Given the description of an element on the screen output the (x, y) to click on. 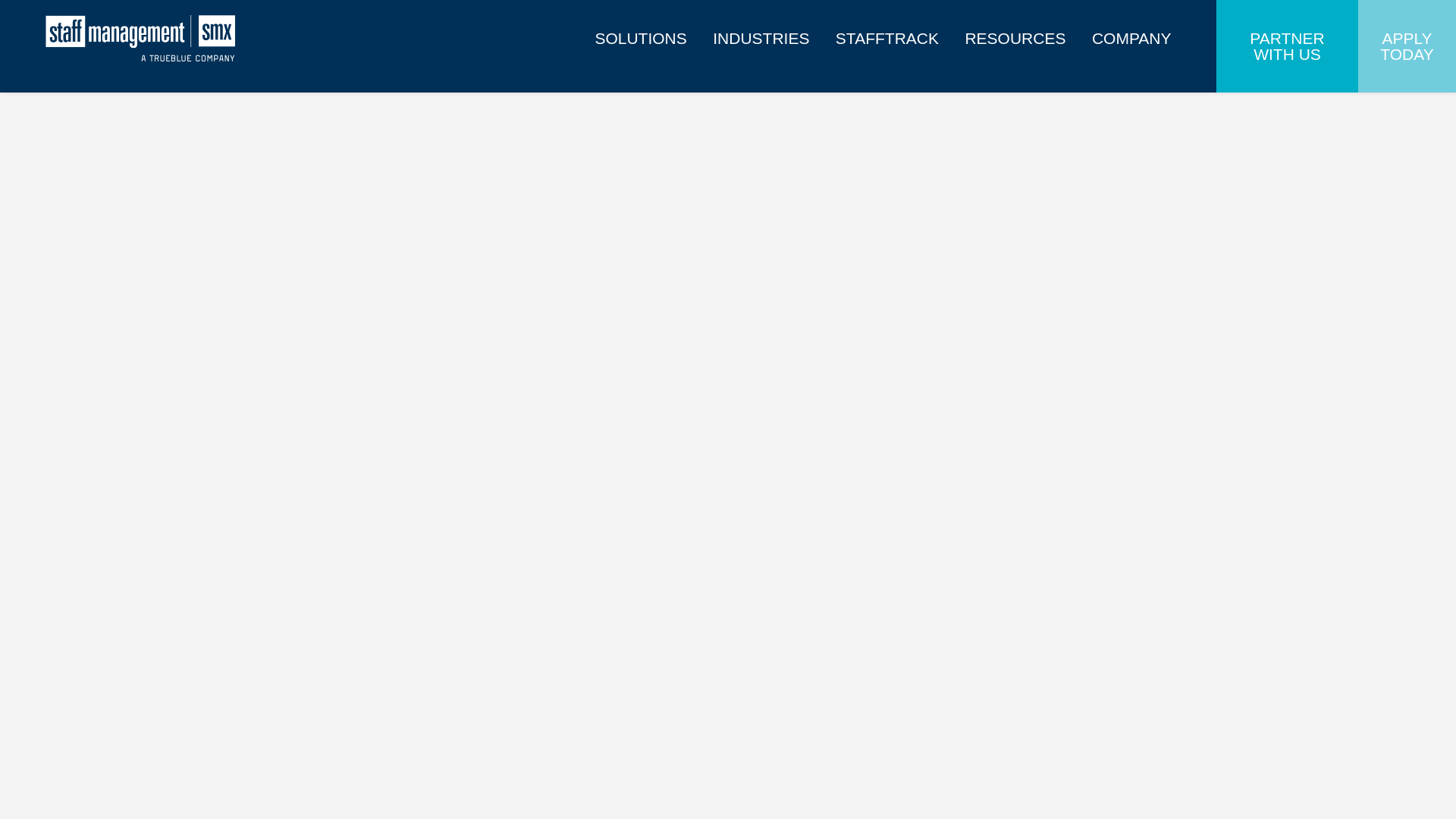
RESOURCES (1015, 30)
PARTNER WITH US (1286, 46)
SOLUTIONS (640, 30)
STAFFTRACK (887, 30)
COMPANY (1131, 30)
INDUSTRIES (761, 30)
